Given the description of an element on the screen output the (x, y) to click on. 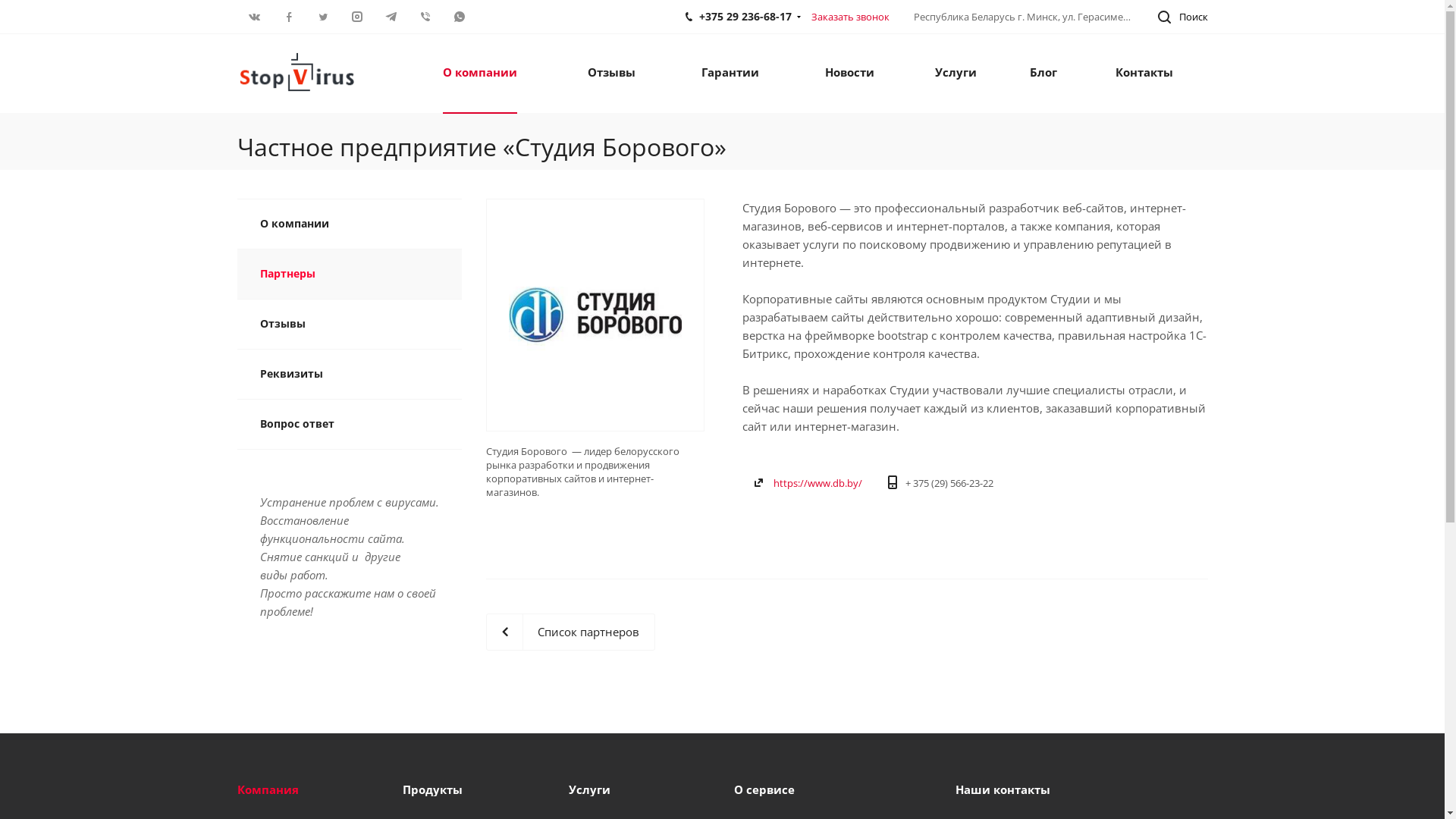
https://www.db.by/ Element type: text (817, 482)
